Given the description of an element on the screen output the (x, y) to click on. 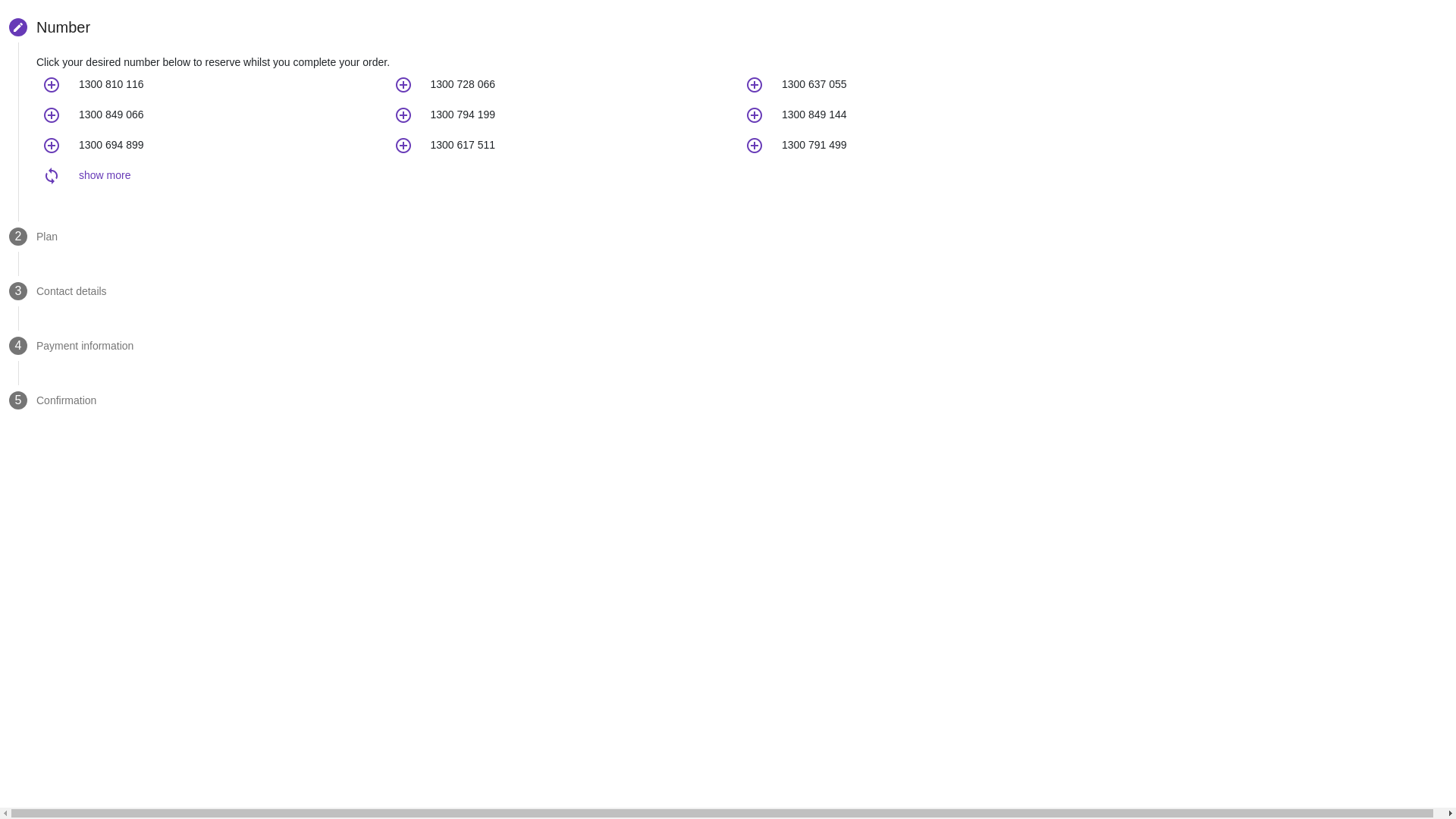
1300 849 144 Element type: text (814, 114)
add_circle_outline Element type: text (403, 115)
1300 791 499 Element type: text (814, 144)
add_circle_outline Element type: text (403, 145)
add_circle_outline Element type: text (754, 115)
show more Element type: text (104, 174)
add_circle_outline Element type: text (754, 84)
1300 728 066 Element type: text (463, 83)
add_circle_outline Element type: text (403, 84)
add_circle_outline Element type: text (51, 115)
loop Element type: text (51, 175)
1300 794 199 Element type: text (463, 114)
1300 849 066 Element type: text (111, 114)
add_circle_outline Element type: text (51, 145)
1300 694 899 Element type: text (111, 144)
1300 810 116 Element type: text (111, 83)
add_circle_outline Element type: text (51, 84)
1300 637 055 Element type: text (814, 83)
1300 617 511 Element type: text (463, 144)
add_circle_outline Element type: text (754, 145)
